Given the description of an element on the screen output the (x, y) to click on. 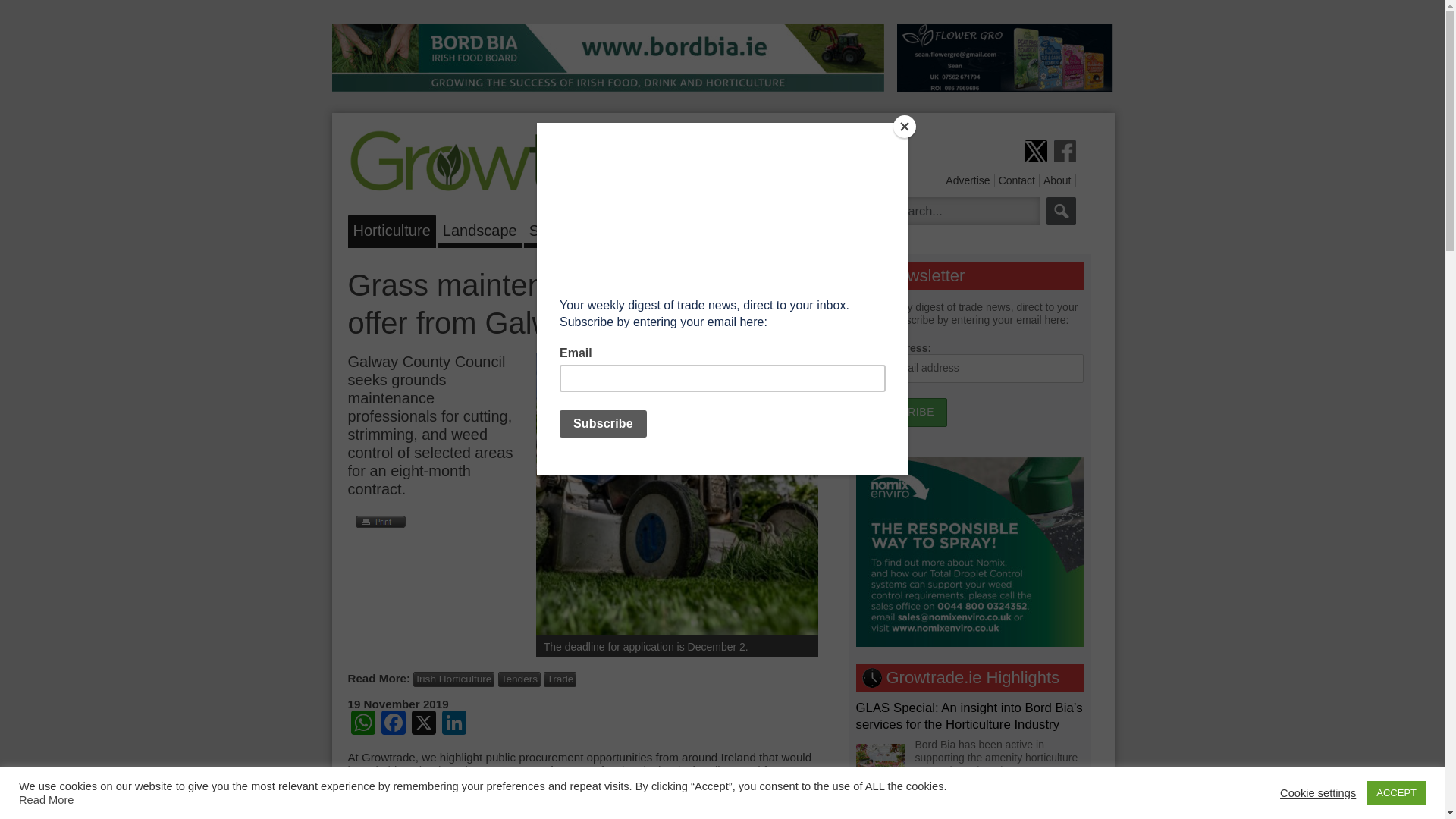
Contact (1016, 180)
LinkedIn (453, 724)
Trade (559, 679)
WhatsApp (362, 724)
Landscape (480, 228)
Tenders (518, 679)
About (1057, 180)
Retail (661, 228)
Search... (962, 211)
Subscribe (901, 412)
Search... (962, 211)
Careers (719, 228)
Irish Horticulture (454, 679)
Horticulture (806, 318)
Horticulture (391, 228)
